Given the description of an element on the screen output the (x, y) to click on. 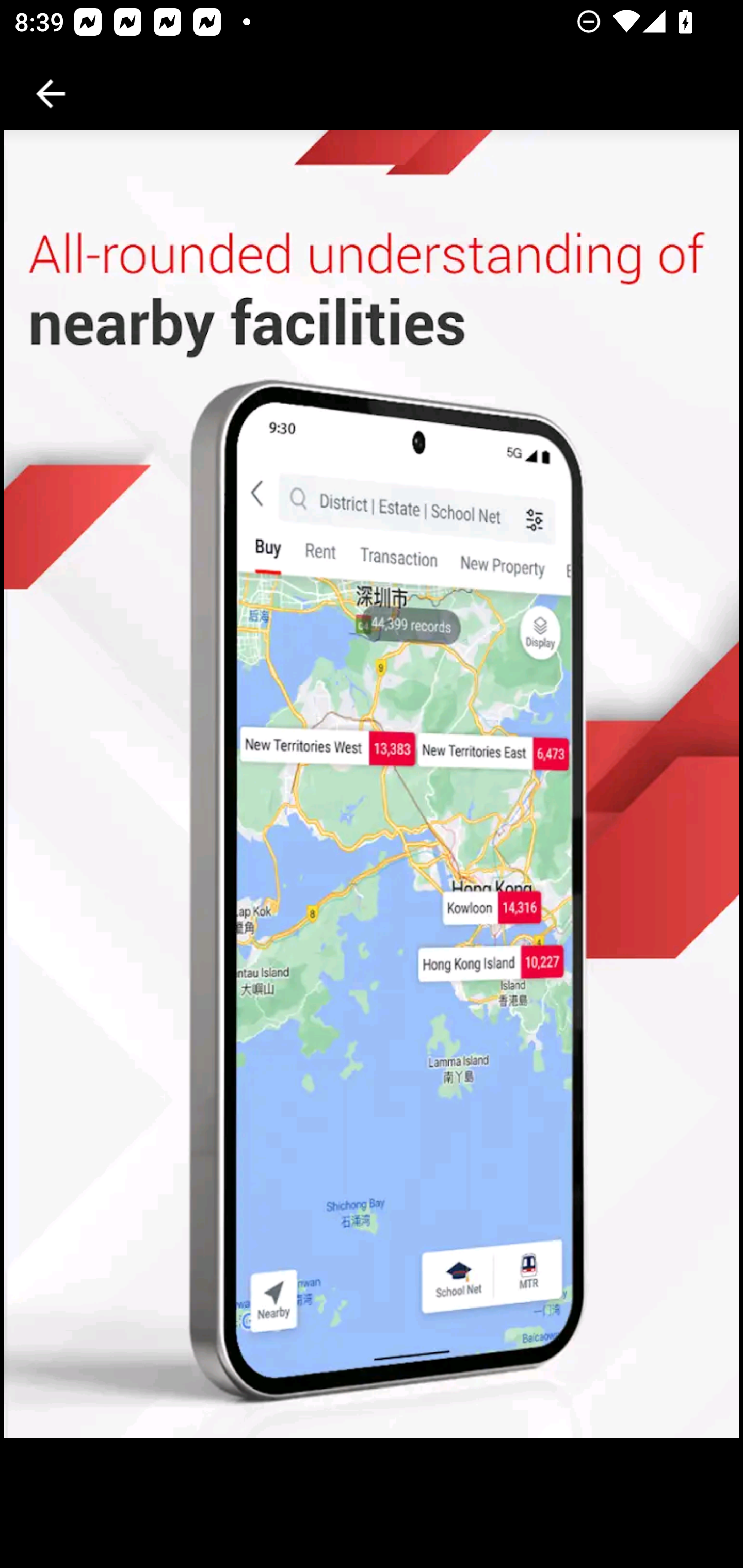
Back (50, 93)
